Given the description of an element on the screen output the (x, y) to click on. 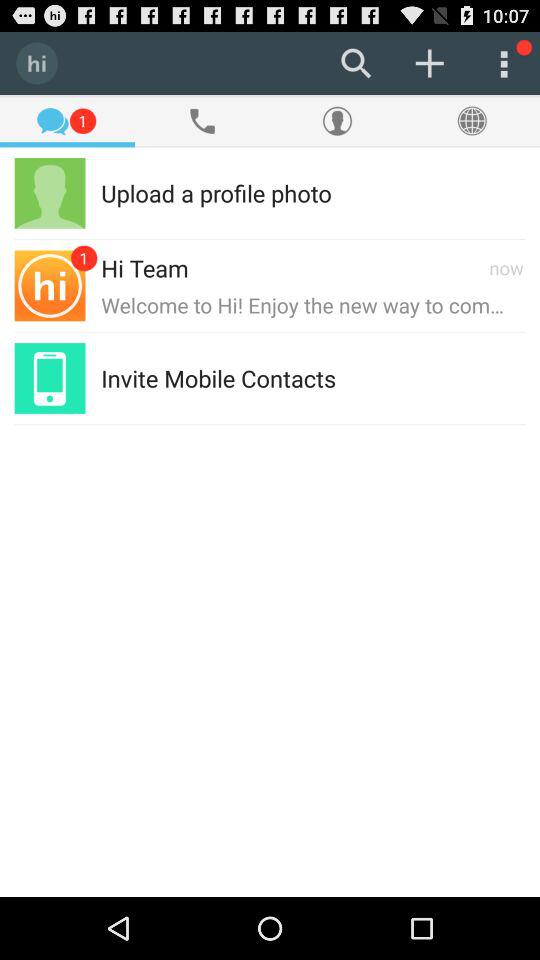
launch the app above welcome to hi (506, 267)
